Given the description of an element on the screen output the (x, y) to click on. 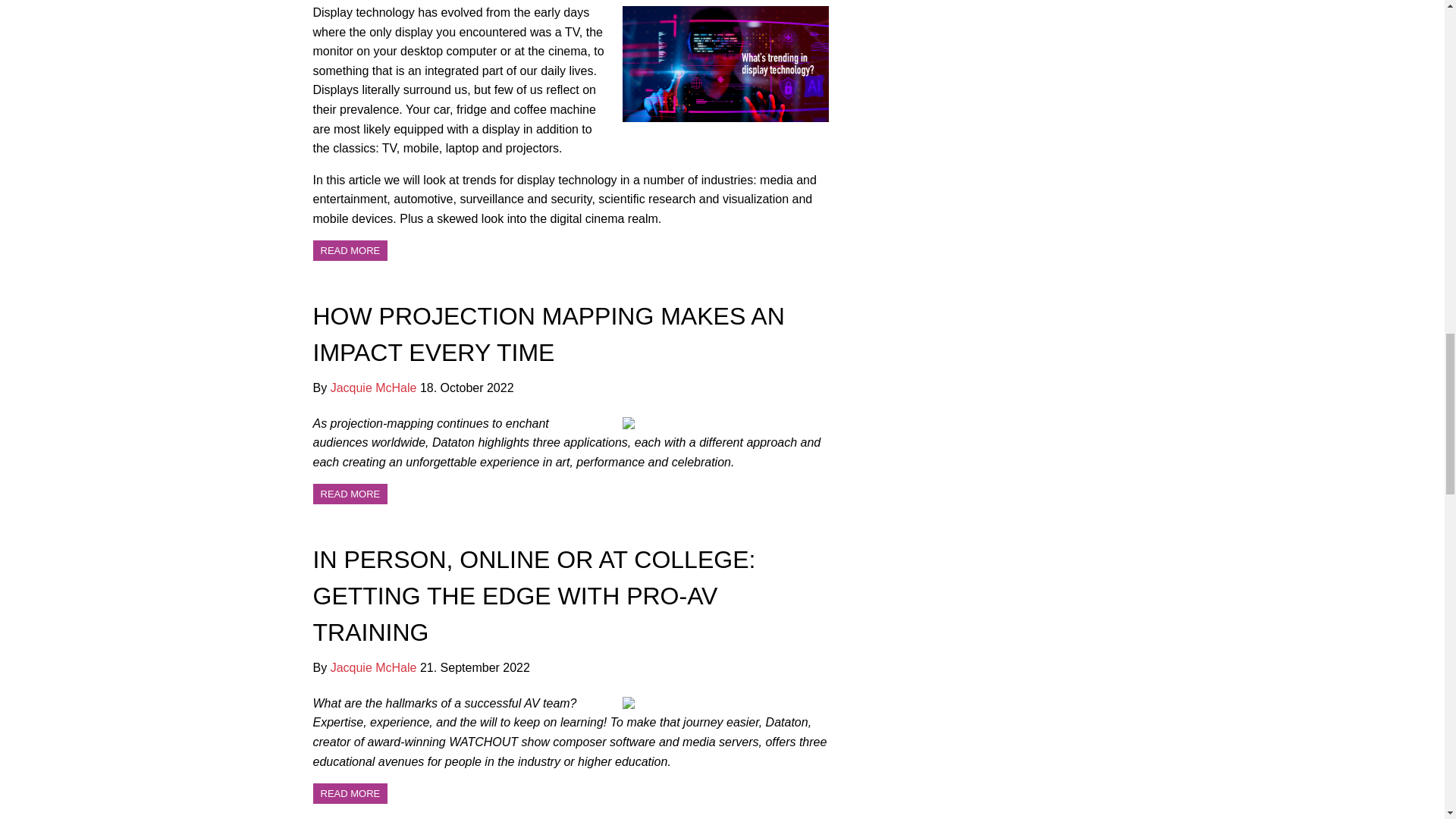
READ MORE (350, 250)
